Given the description of an element on the screen output the (x, y) to click on. 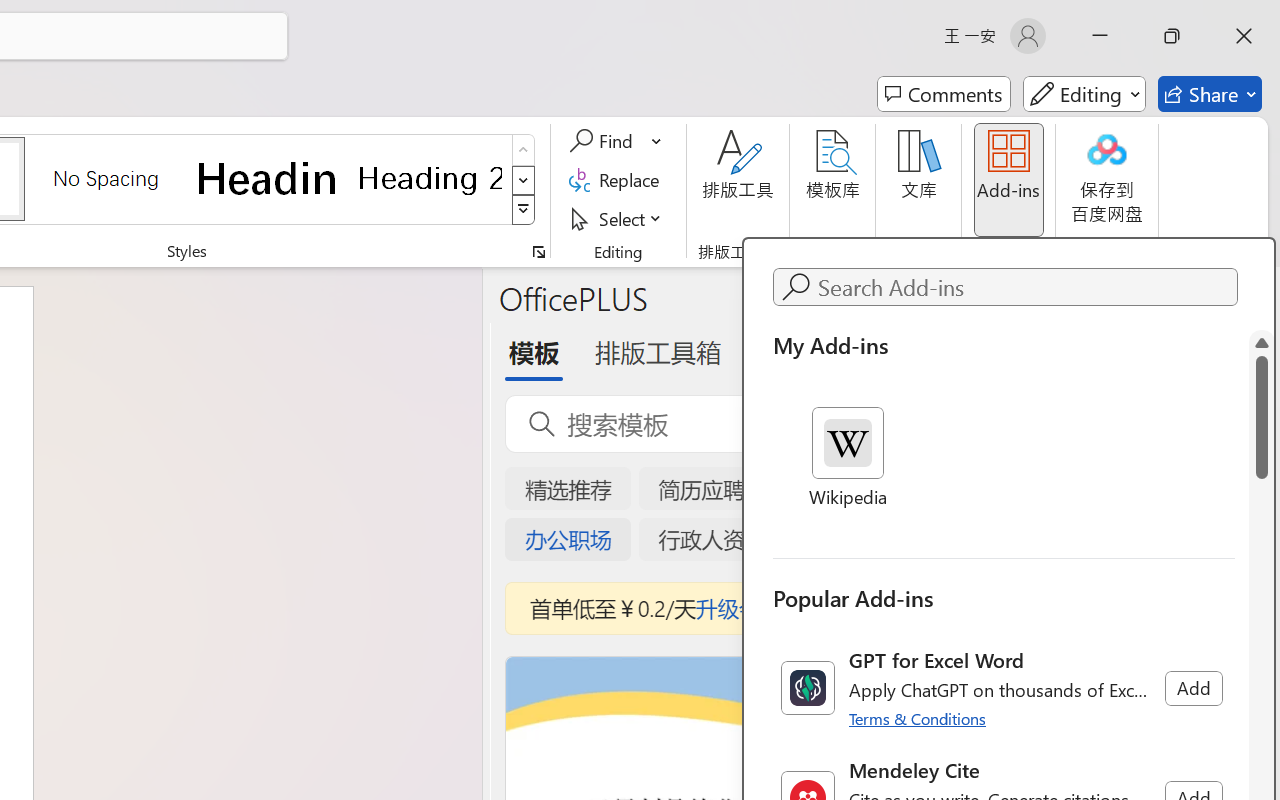
Mode (1083, 94)
Class: NetUIImage (807, 687)
More Options (657, 141)
Comments (943, 94)
Terms & Conditions (918, 718)
Styles (523, 209)
Row up (523, 150)
Line up (1261, 342)
Minimize (1099, 36)
Styles... (538, 252)
Search Add-ins (1023, 287)
Replace... (617, 179)
